Given the description of an element on the screen output the (x, y) to click on. 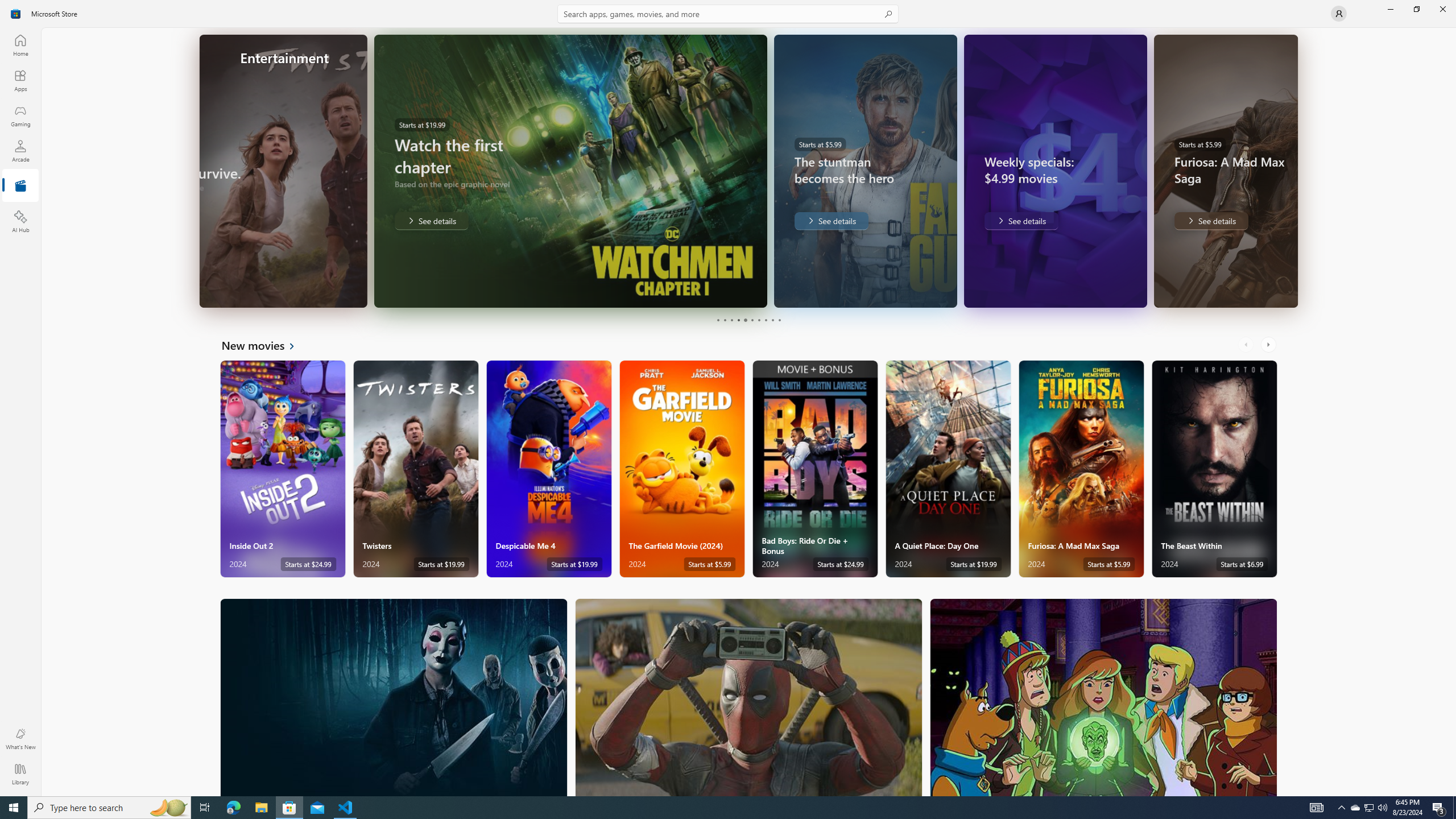
Arcade (20, 150)
Page 3 (731, 319)
AutomationID: RightScrollButton (1269, 344)
AutomationID: LeftScrollButton (1246, 344)
AutomationID: NavigationControl (728, 398)
Action & Adventure (749, 697)
Minimize Microsoft Store (1390, 9)
Home (20, 45)
User profile (1338, 13)
Restore Microsoft Store (1416, 9)
Family (1102, 697)
Apps (20, 80)
